Given the description of an element on the screen output the (x, y) to click on. 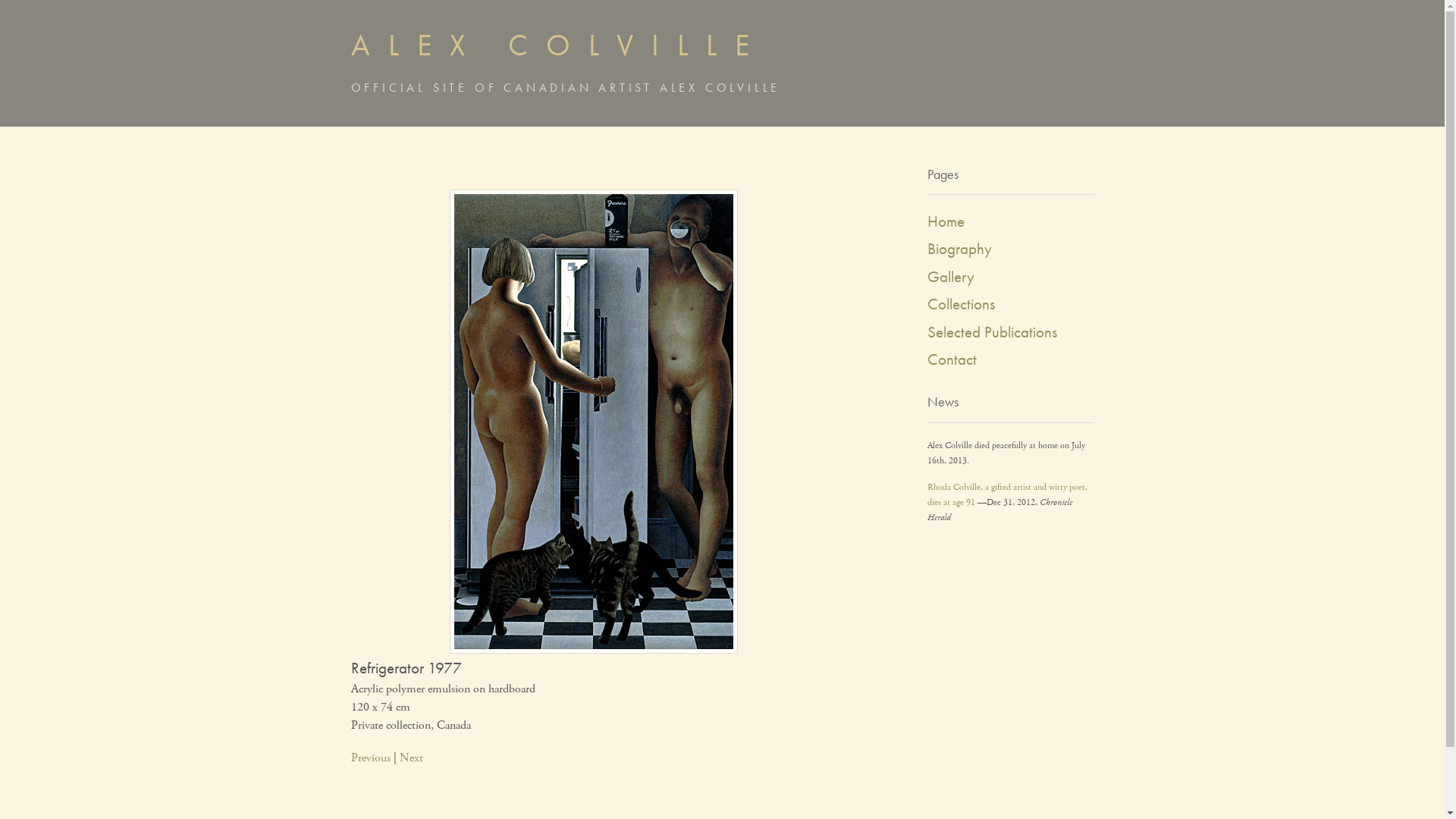
Collections Element type: text (960, 303)
Previous Element type: text (369, 757)
Selected Publications Element type: text (991, 331)
Gallery Element type: text (949, 276)
Contact Element type: text (950, 358)
Next Element type: text (410, 757)
Refrigerator Element type: hover (592, 650)
Home Element type: text (944, 220)
ALEX COLVILLE Element type: text (558, 44)
Biography Element type: text (958, 248)
